Given the description of an element on the screen output the (x, y) to click on. 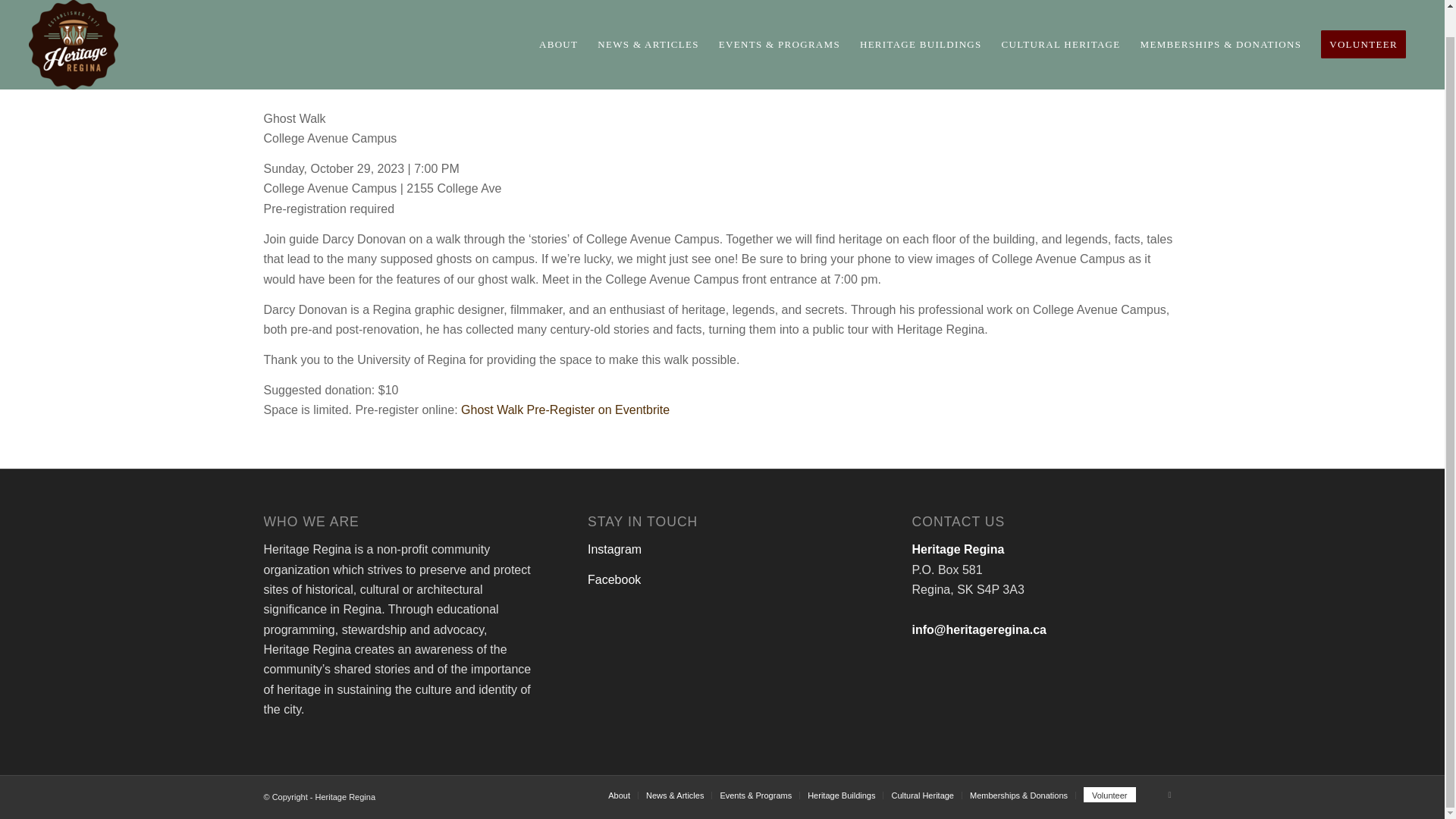
ABOUT (558, 31)
Facebook (1169, 793)
